Given the description of an element on the screen output the (x, y) to click on. 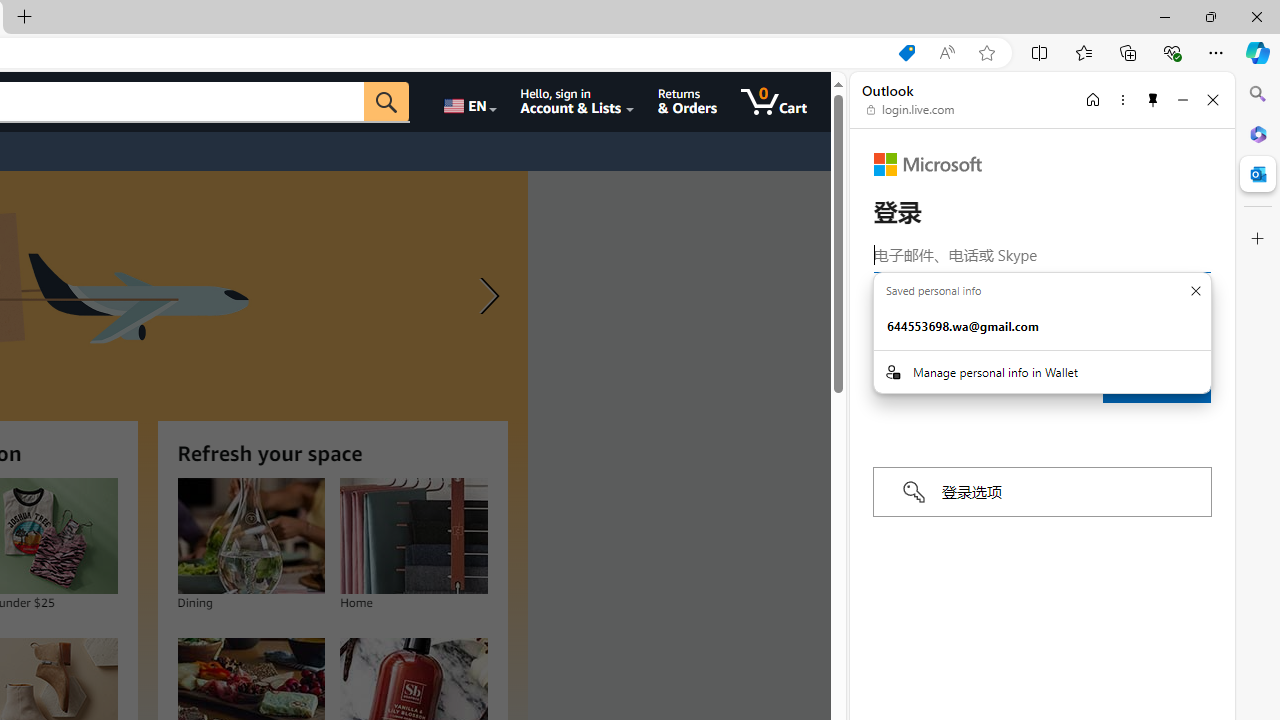
Don't show saved information (1195, 291)
Next slide (484, 296)
Manage personal info in Wallet (1042, 371)
Choose a language for shopping. (468, 101)
Microsoft (927, 164)
